Given the description of an element on the screen output the (x, y) to click on. 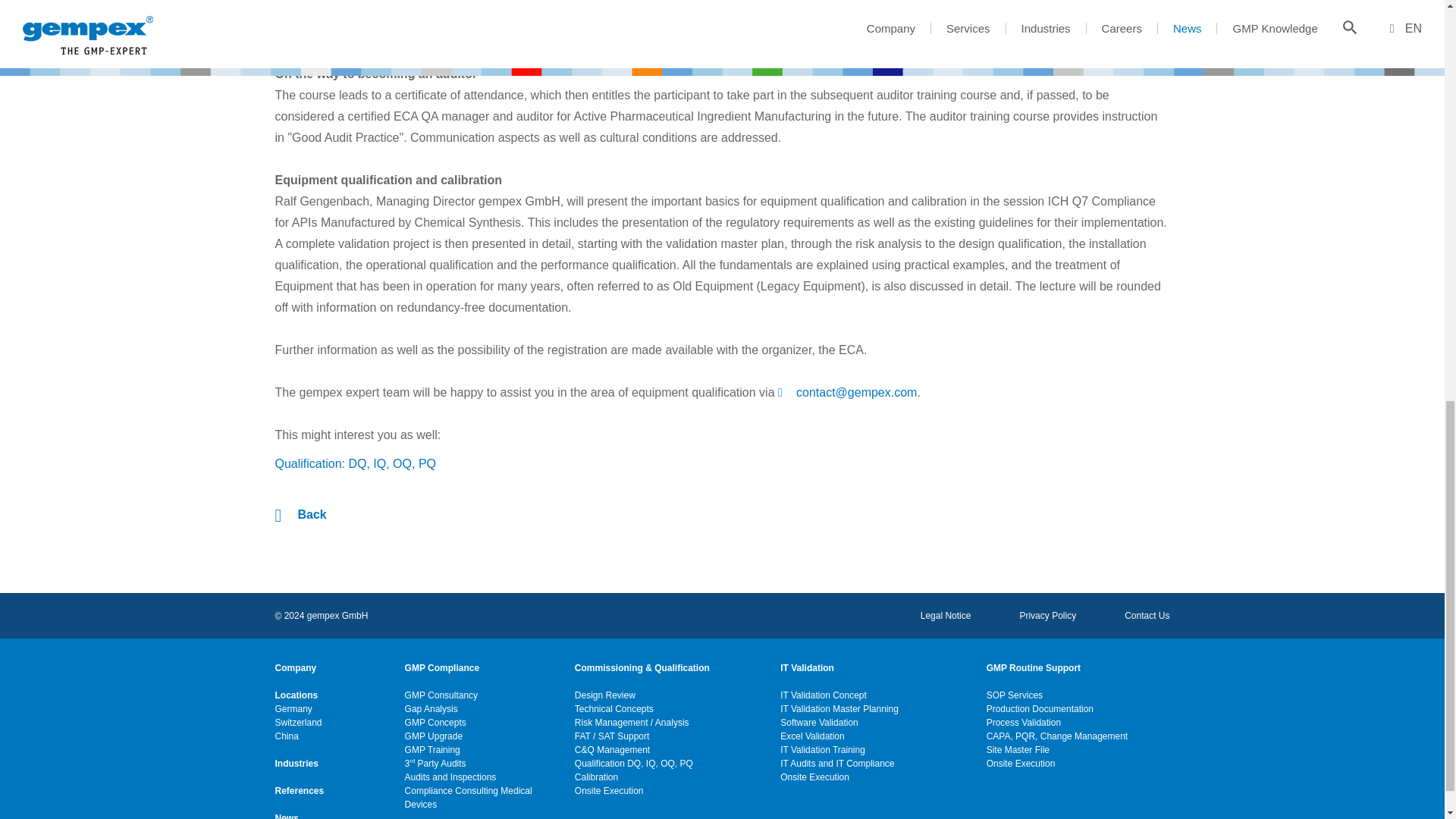
Audits and Inspections (450, 817)
Germany (293, 754)
GMP Concepts (434, 767)
Industries (296, 808)
GMP Training (432, 795)
GMP Consultancy (441, 740)
Design Review (604, 740)
Technical Concepts (614, 754)
GMP Upgrade (433, 781)
Switzerland (298, 767)
